Given the description of an element on the screen output the (x, y) to click on. 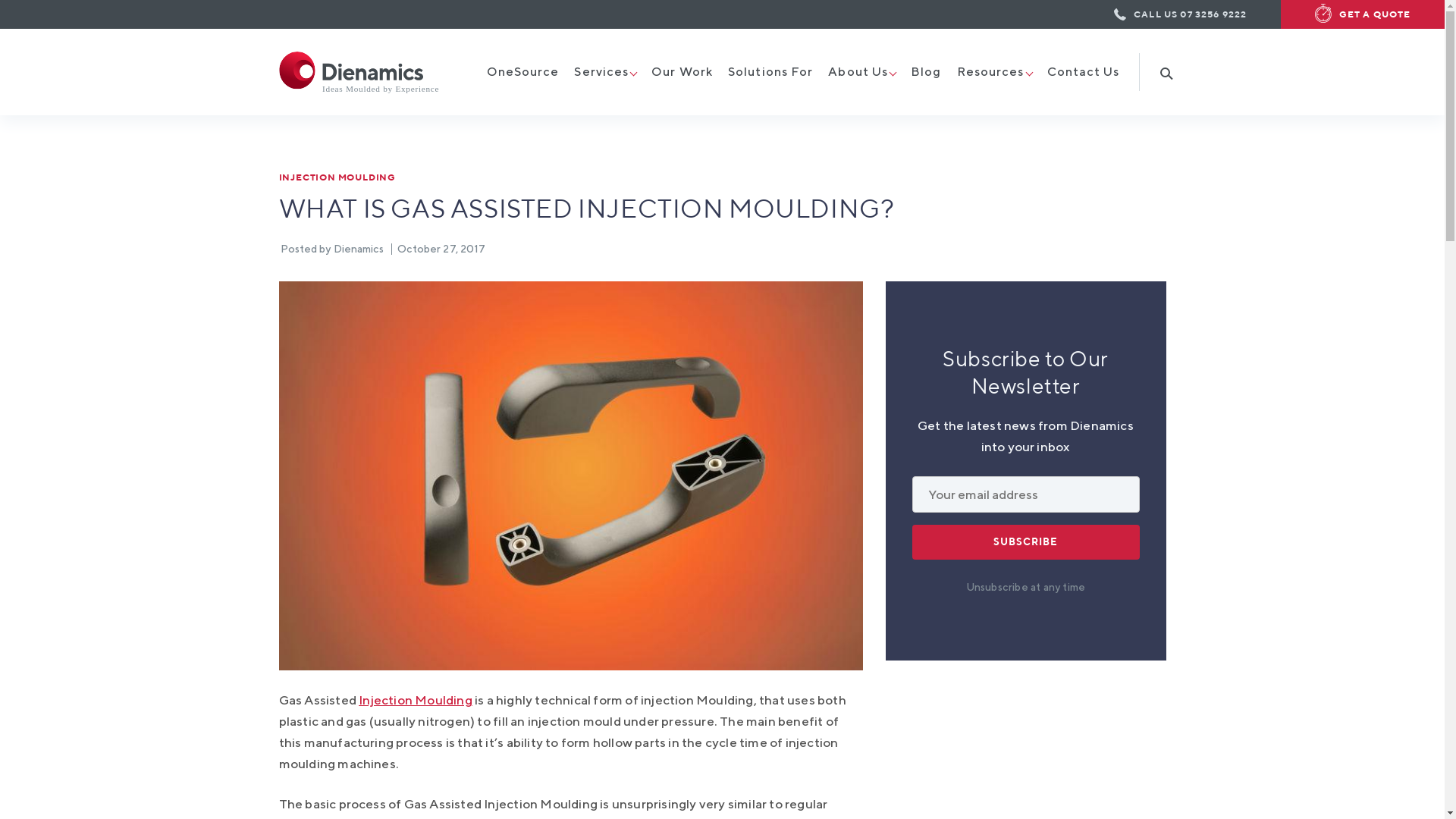
GET A QUOTE Element type: text (1354, 14)
CALL US 07 3256 9222 Element type: text (1179, 14)
Services Element type: text (601, 72)
About Us Element type: text (857, 72)
Solutions For Element type: text (770, 72)
Injection Moulding Element type: text (415, 699)
Resources Element type: text (990, 72)
Our Work Element type: text (681, 72)
Contact Us Element type: text (1082, 72)
Subscribe Element type: text (1025, 541)
OneSource Element type: text (523, 72)
Blog Element type: text (925, 72)
